Given the description of an element on the screen output the (x, y) to click on. 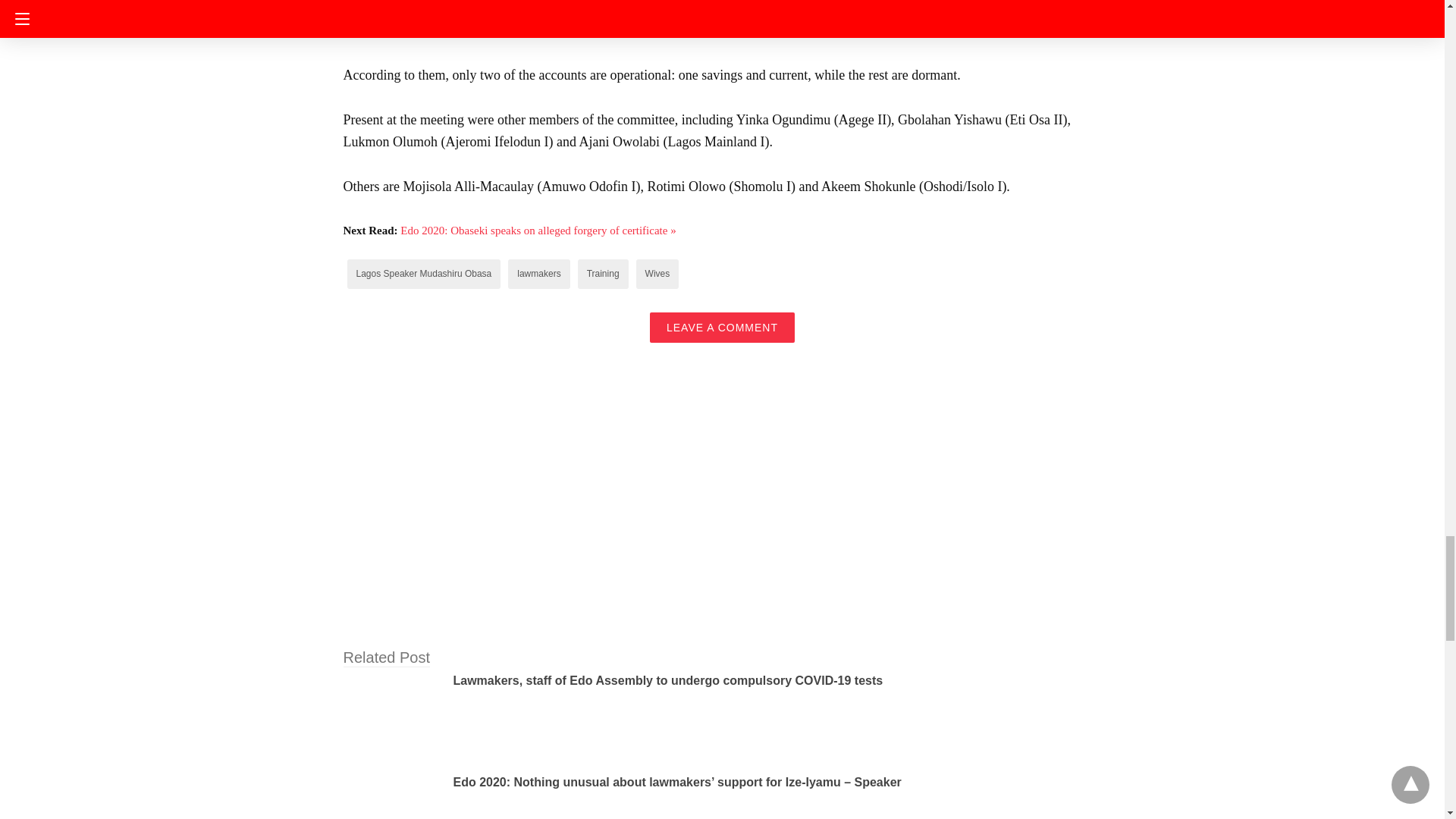
Leave a Comment (721, 327)
Wives (657, 273)
Lagos Speaker Mudashiru Obasa (424, 273)
lawmakers (538, 273)
LEAVE A COMMENT (721, 327)
Training (603, 273)
